Given the description of an element on the screen output the (x, y) to click on. 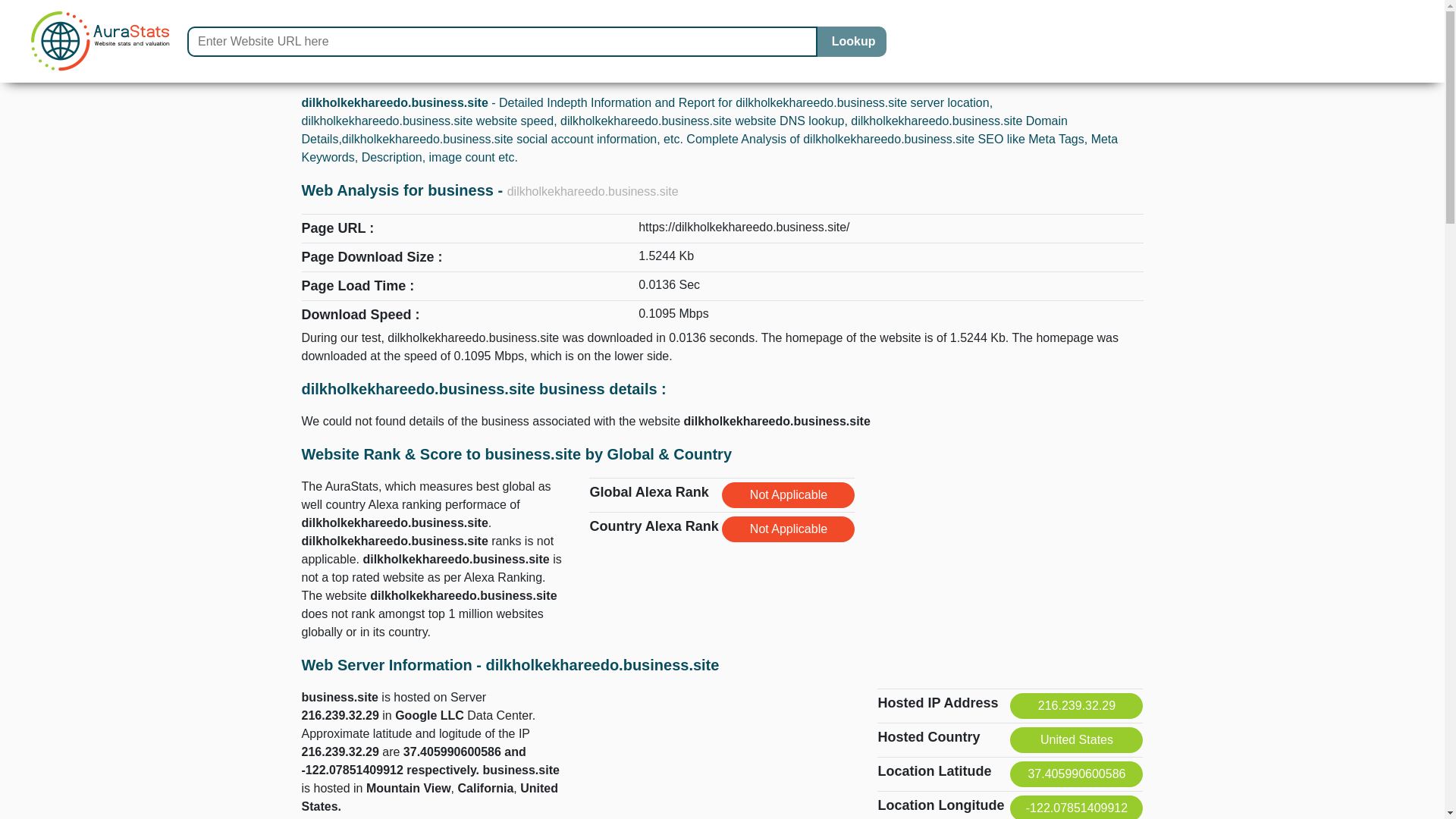
Web Server Location (721, 745)
Lookup (850, 40)
